Given the description of an element on the screen output the (x, y) to click on. 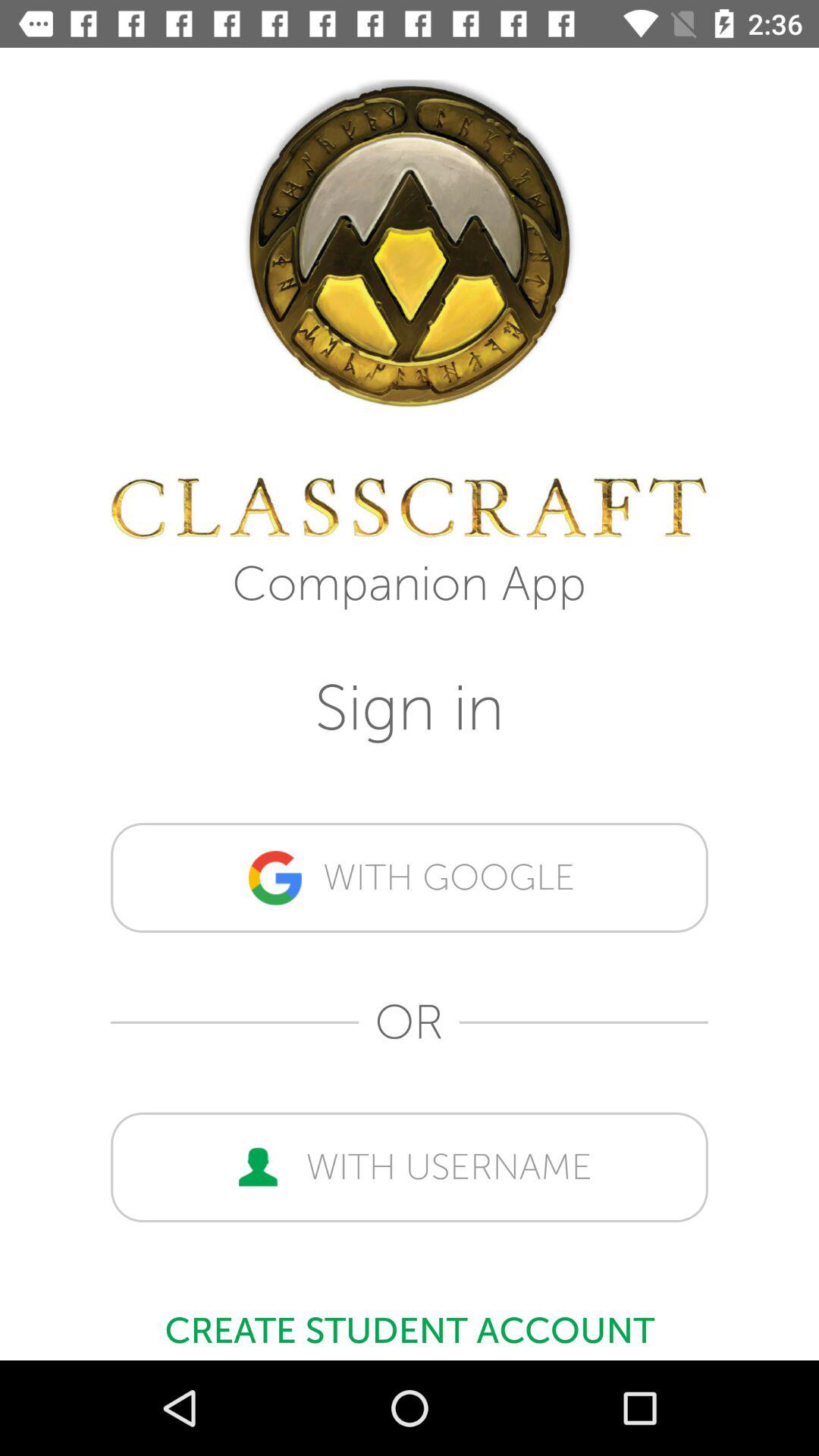
select create student account item (409, 1322)
